Given the description of an element on the screen output the (x, y) to click on. 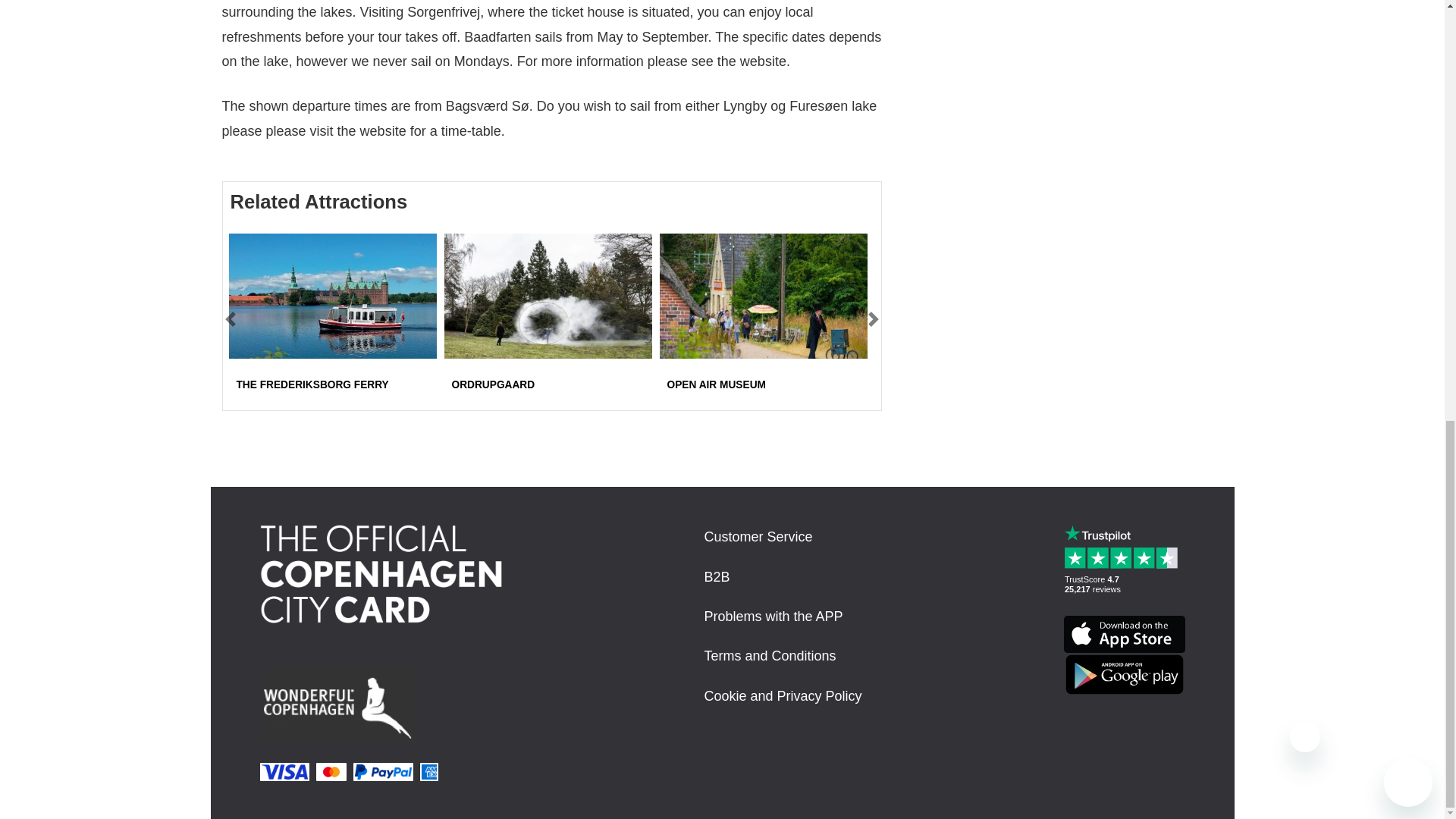
THE FREDERIKSBORG FERRY (311, 384)
OPEN AIR MUSEUM (715, 384)
ORDRUPGAARD (493, 384)
Customer reviews powered by Trustpilot (1123, 581)
